Given the description of an element on the screen output the (x, y) to click on. 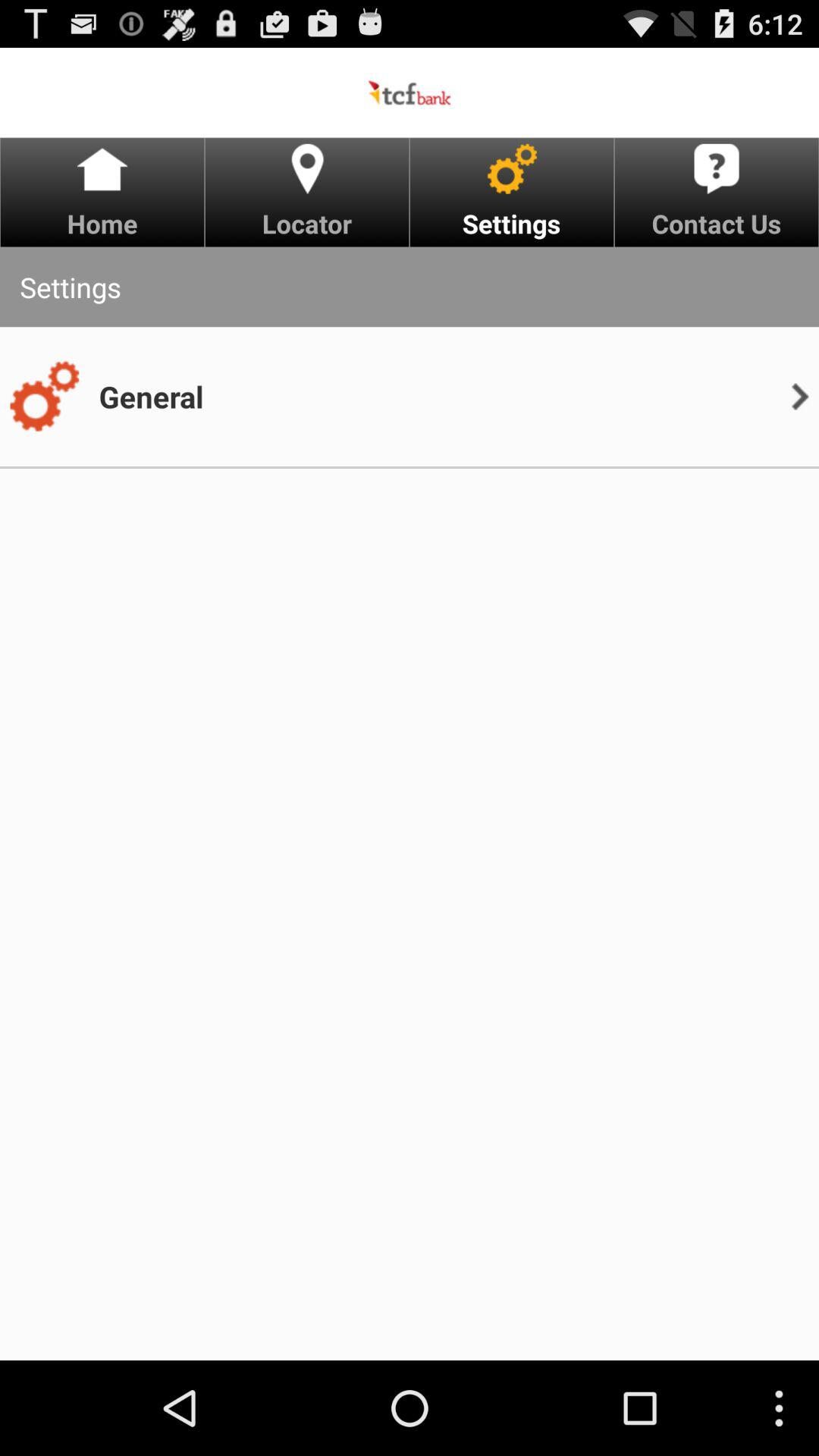
click general icon (150, 396)
